Given the description of an element on the screen output the (x, y) to click on. 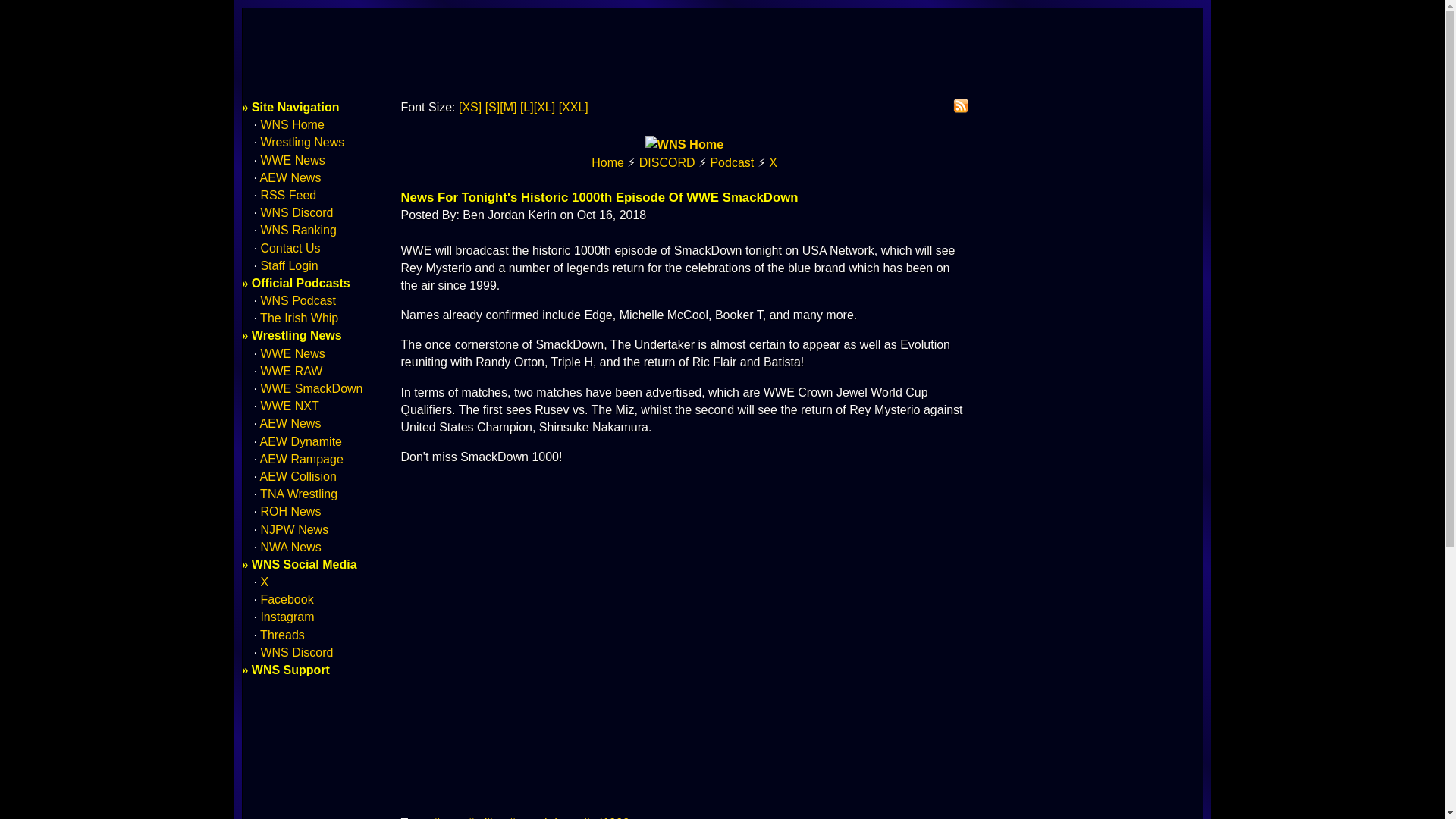
Contact Us (290, 246)
AEW Dynamite (301, 440)
WWE RAW (290, 370)
AEW News (290, 422)
ROH News (290, 511)
WWE NXT (289, 405)
WNS Home (291, 124)
NWA News (290, 546)
The Irish Whip (298, 318)
WWE SmackDown (311, 388)
WWE News (292, 160)
Facebook (286, 599)
Instagram (287, 616)
Wrestling News (301, 141)
WWE News (292, 353)
